Given the description of an element on the screen output the (x, y) to click on. 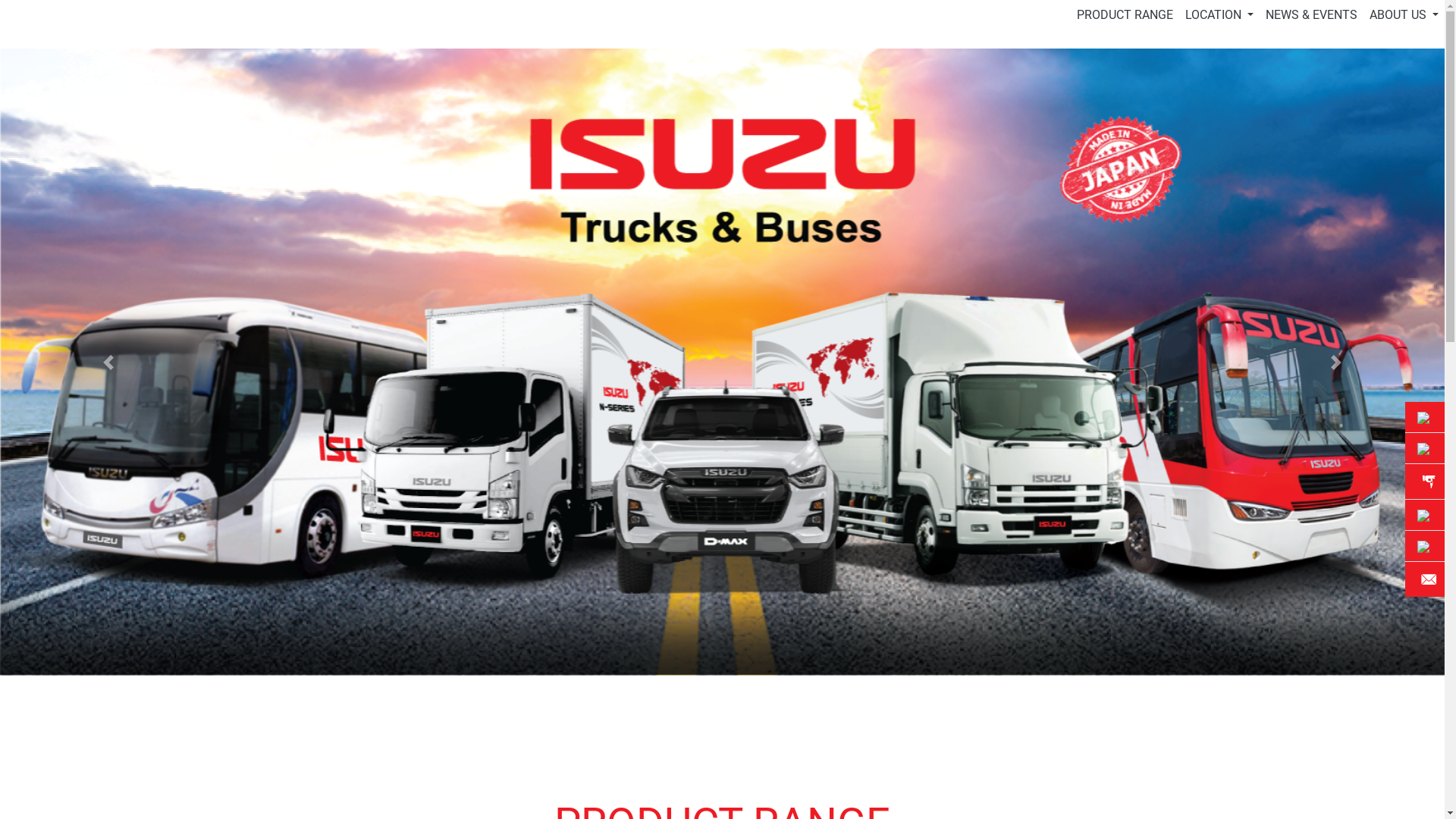
Previous Element type: text (108, 361)
ABOUT US Element type: text (1403, 15)
LOCATION Element type: text (1219, 15)
Next Element type: text (1335, 361)
PRODUCT RANGE Element type: text (1124, 15)
NEWS & EVENTS Element type: text (1311, 15)
